Given the description of an element on the screen output the (x, y) to click on. 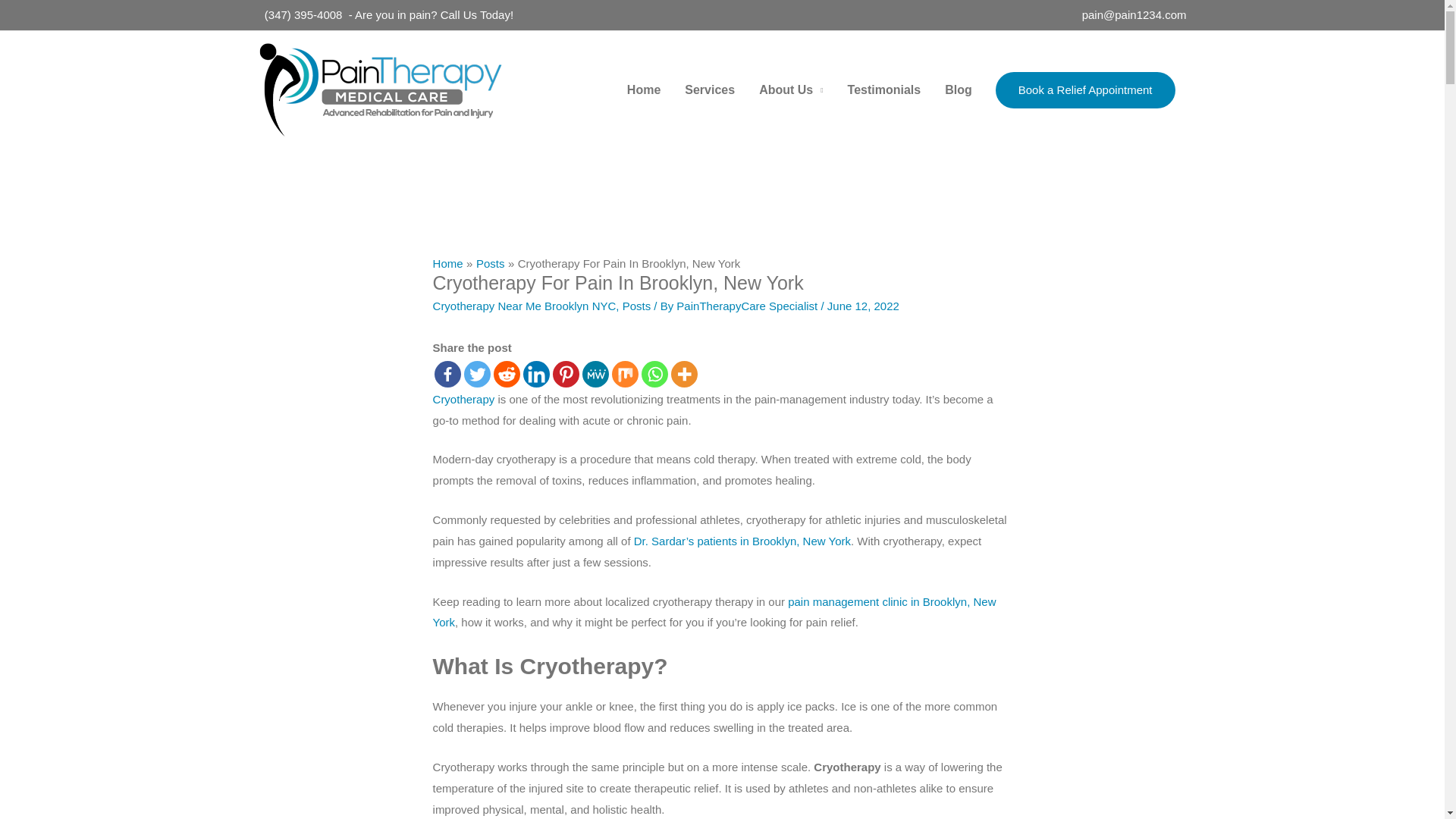
Home (643, 90)
Home (447, 263)
Facebook (447, 374)
PainTherapyCare Specialist (749, 305)
Posts (490, 263)
Linkedin (536, 374)
Mix (625, 374)
Cryotherapy Near Me Brooklyn NYC (523, 305)
Posts (636, 305)
MeWe (595, 374)
